Given the description of an element on the screen output the (x, y) to click on. 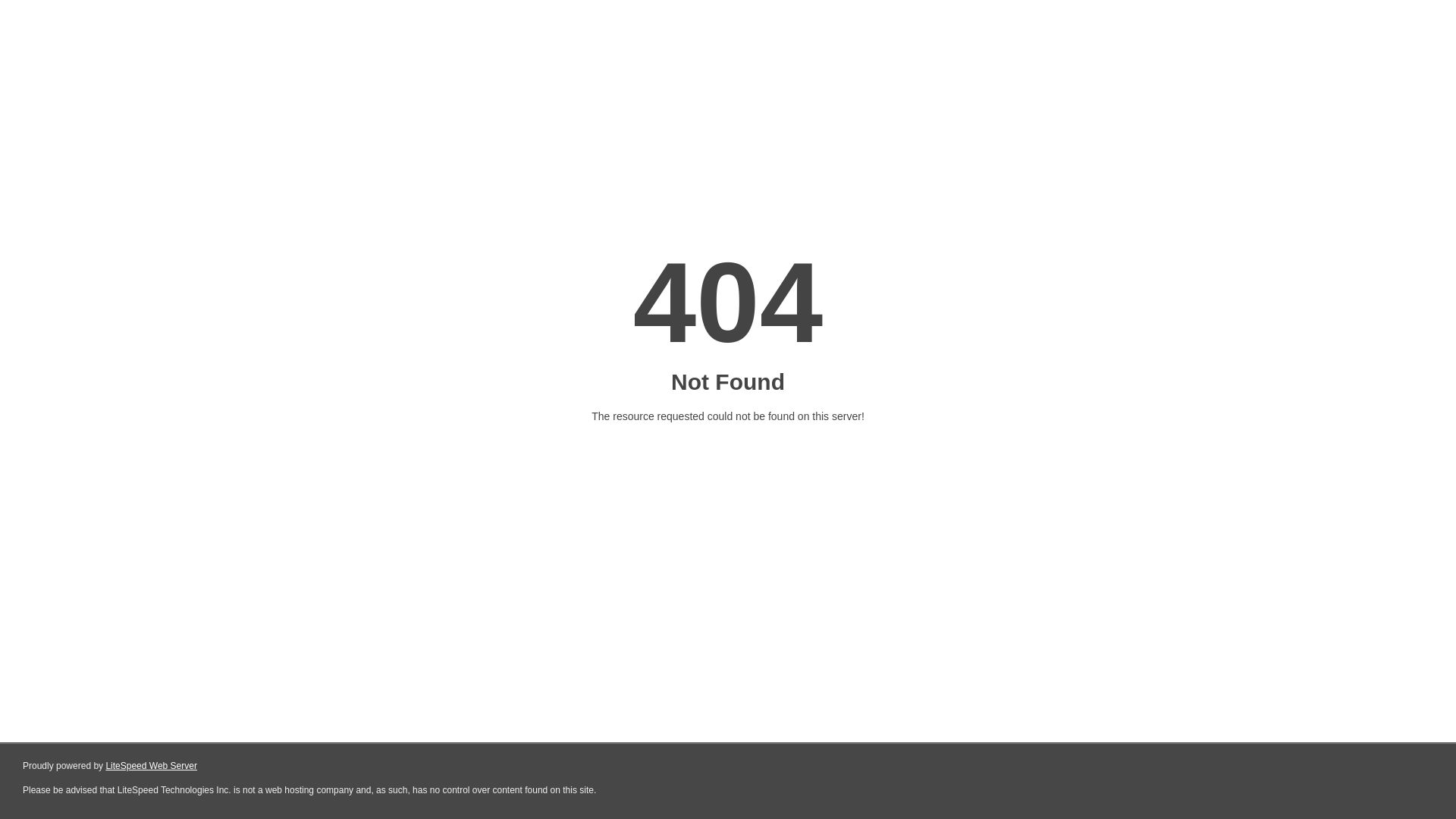
LiteSpeed Web Server Element type: text (151, 765)
